Given the description of an element on the screen output the (x, y) to click on. 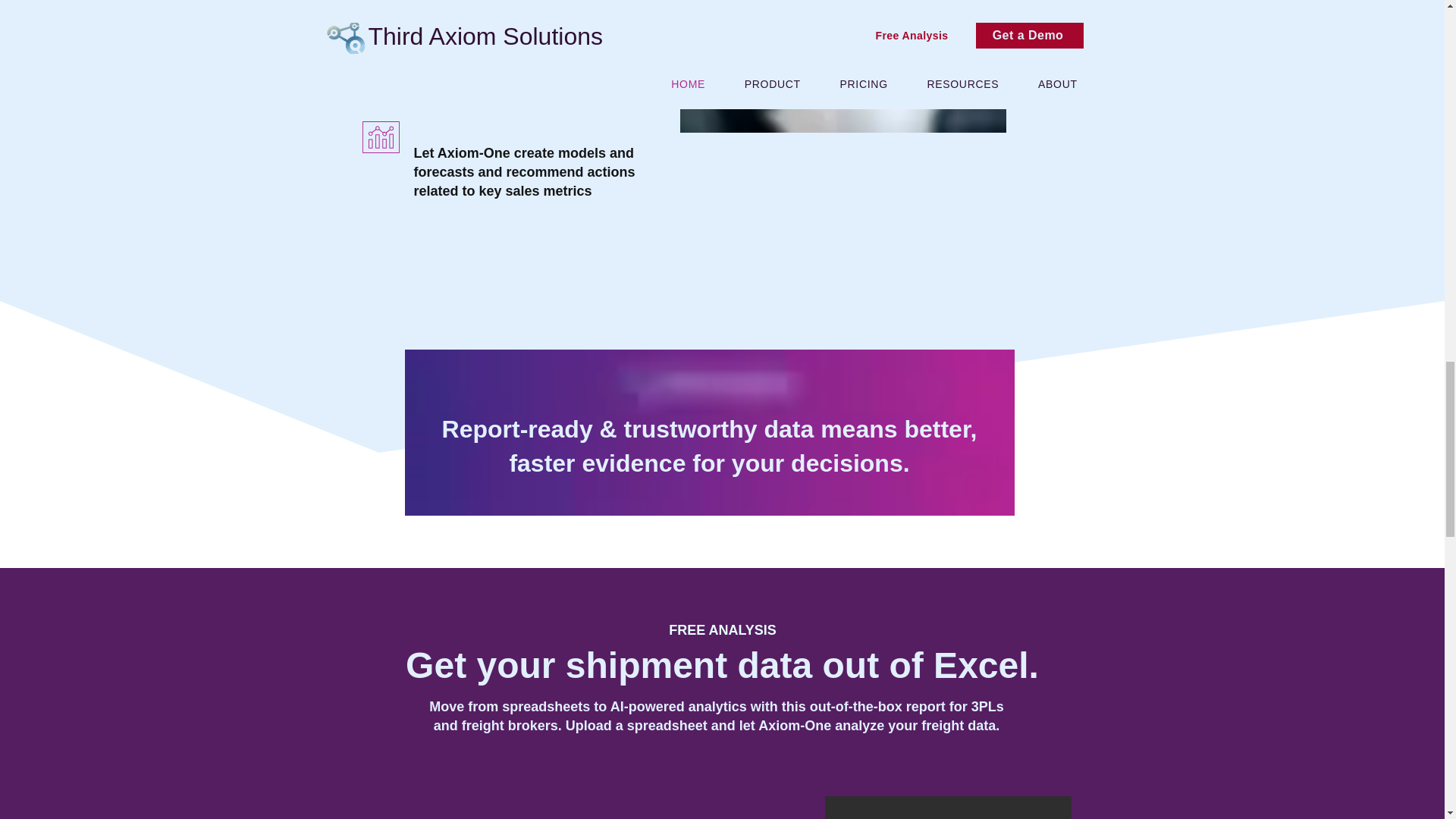
Office Workspace (842, 66)
